Given the description of an element on the screen output the (x, y) to click on. 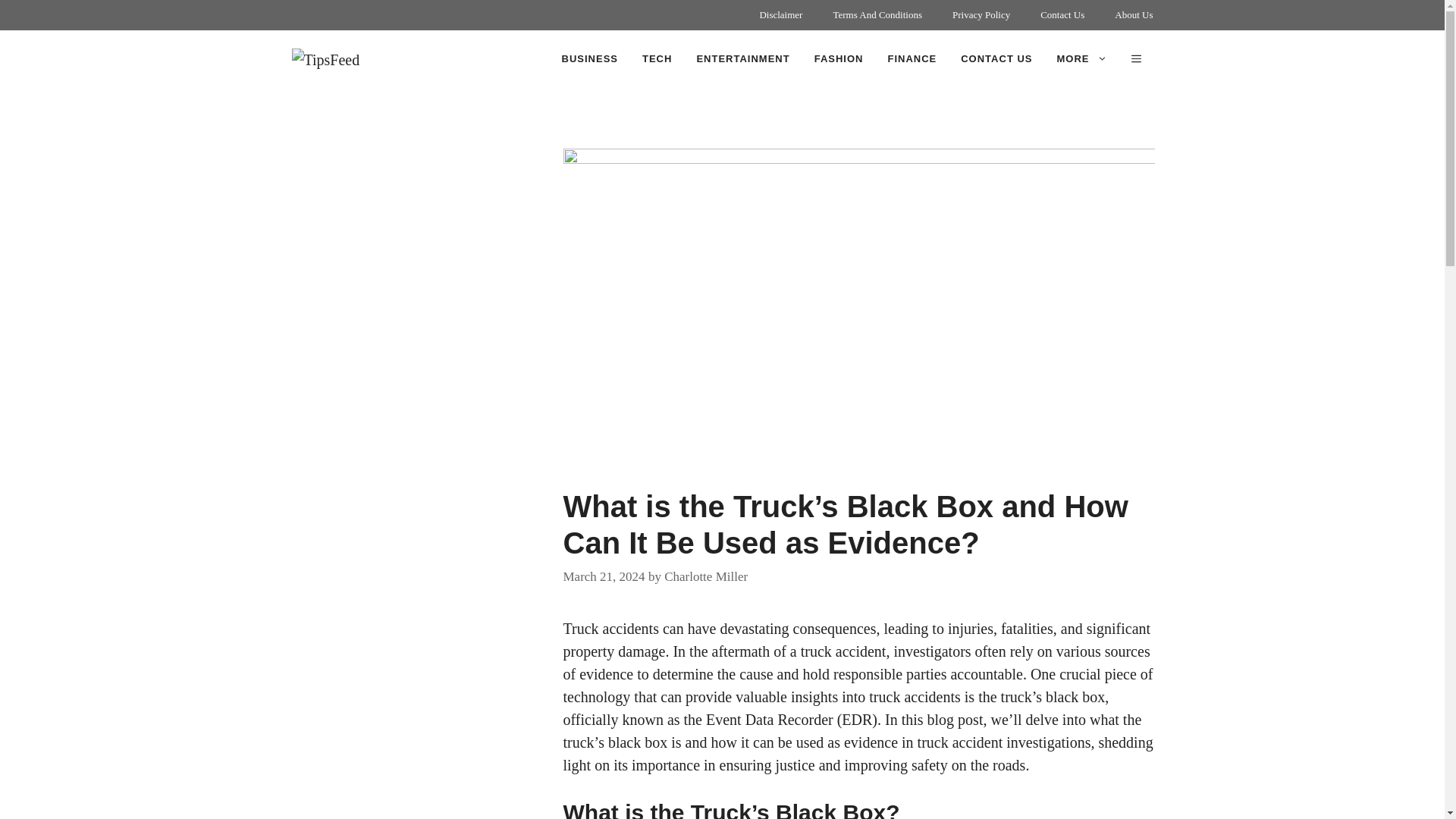
TECH (657, 58)
FINANCE (912, 58)
MORE (1082, 58)
Terms And Conditions (876, 15)
BUSINESS (590, 58)
Charlotte Miller (705, 576)
Contact Us (1062, 15)
Disclaimer (780, 15)
FASHION (839, 58)
Privacy Policy (981, 15)
